Given the description of an element on the screen output the (x, y) to click on. 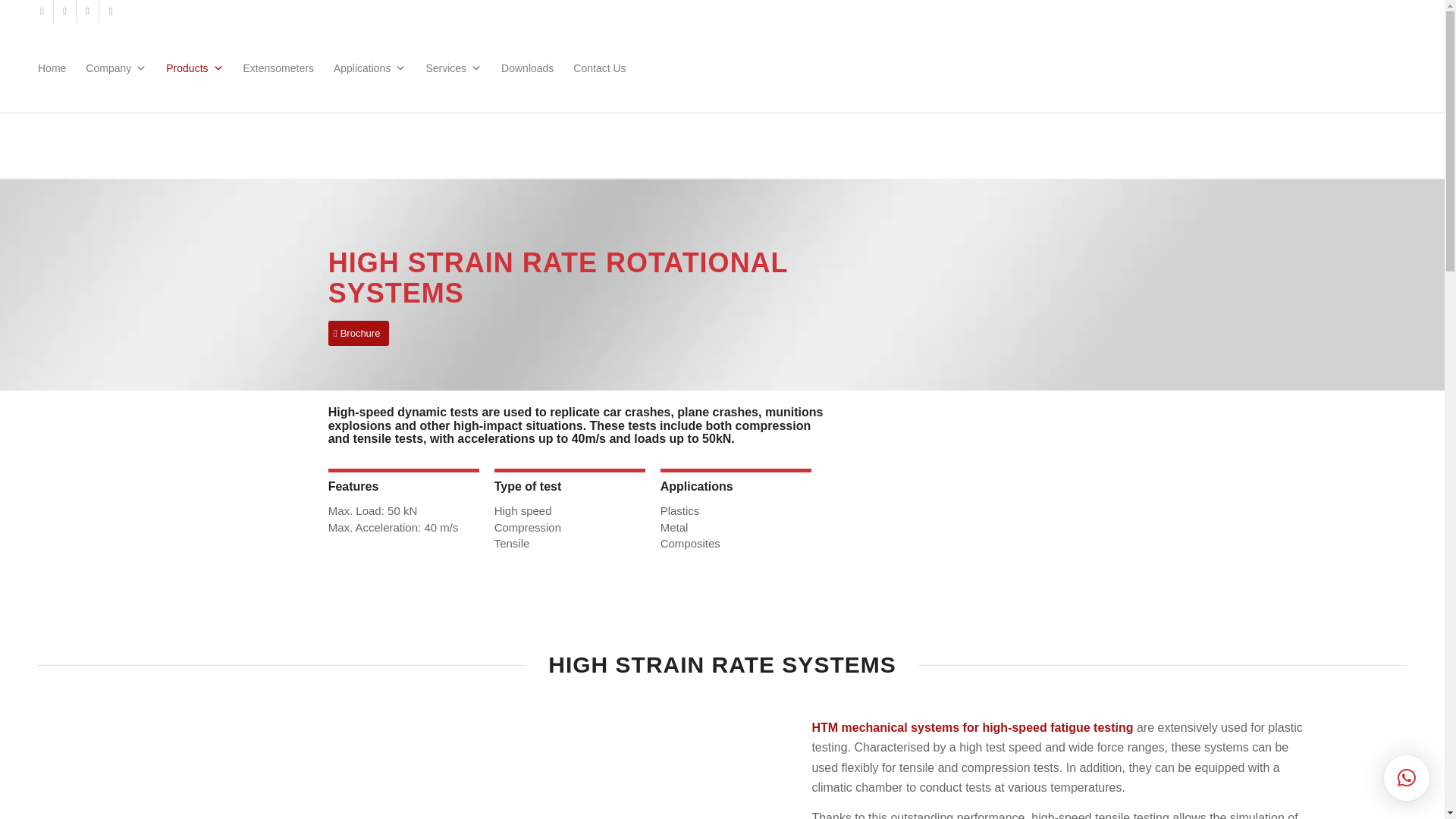
Youtube (64, 11)
Company (115, 67)
Products (193, 67)
Facebook (88, 11)
Instagram (110, 11)
LinkedIn (41, 11)
Home (51, 67)
